Given the description of an element on the screen output the (x, y) to click on. 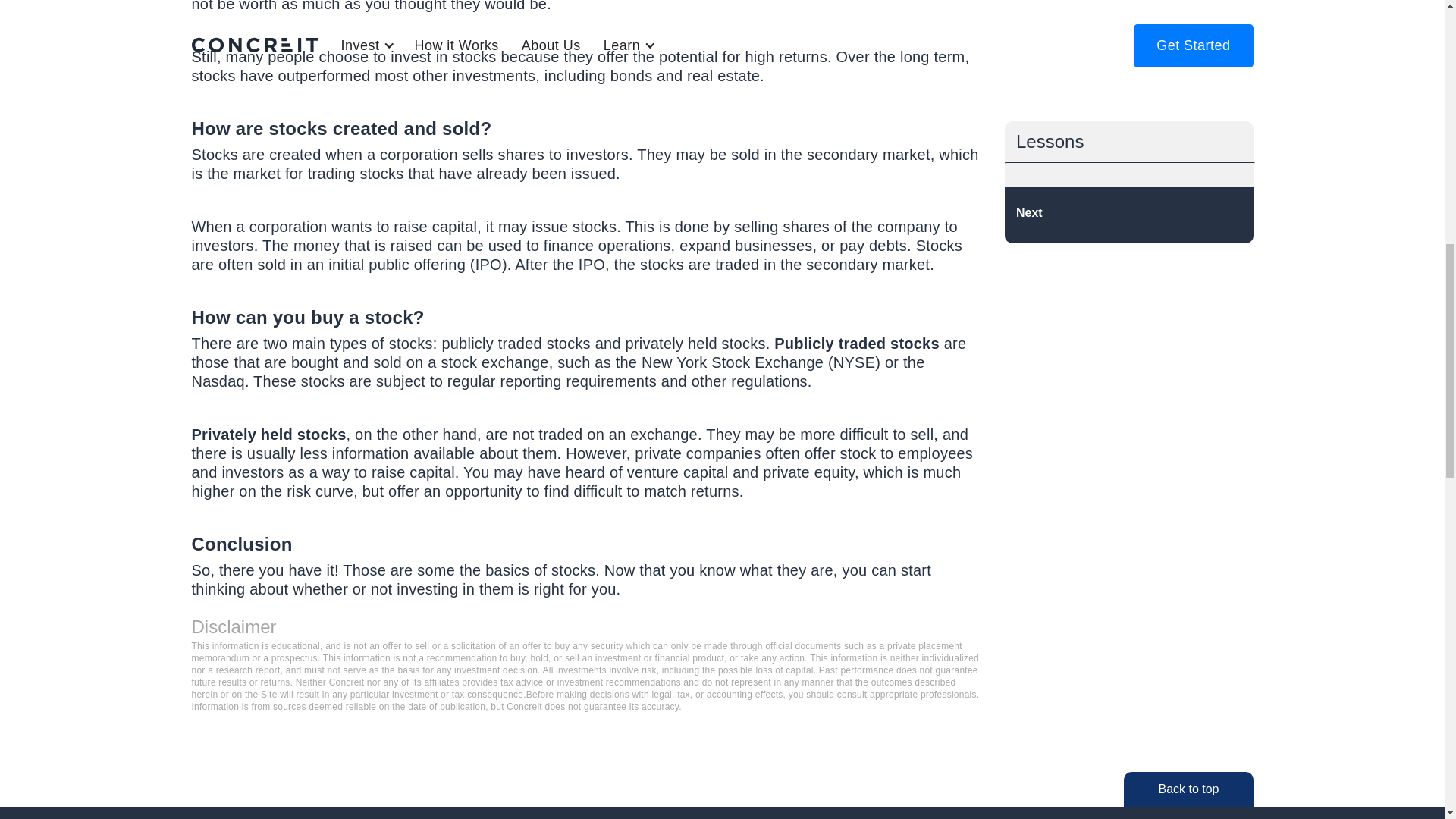
Back to top (1188, 789)
